Given the description of an element on the screen output the (x, y) to click on. 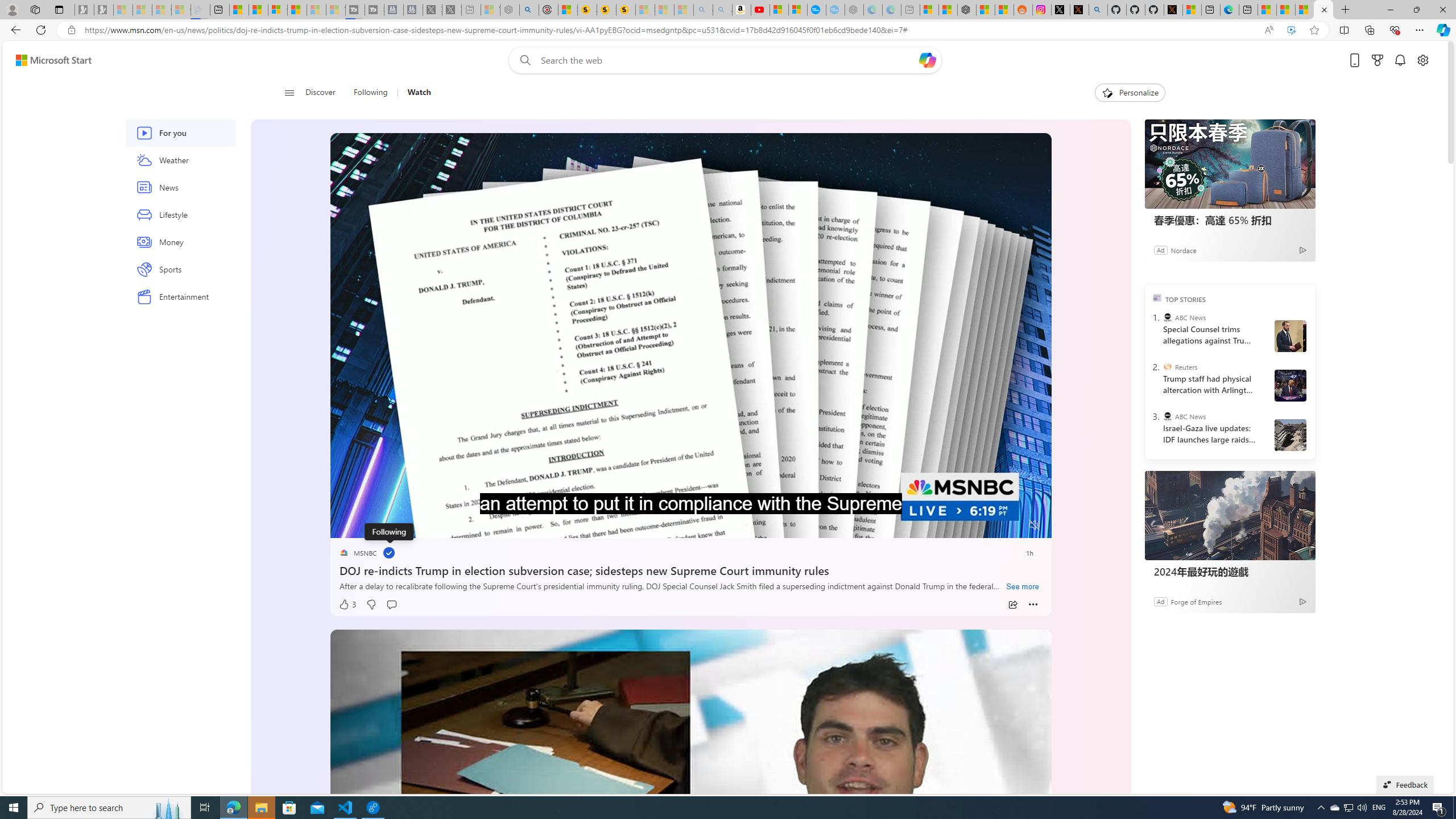
Nordace - Nordace has arrived Hong Kong - Sleeping (853, 9)
Welcome to Microsoft Edge (1229, 9)
ABC News (1167, 415)
Microsoft rewards (1377, 60)
Web search (523, 60)
Wildlife - MSN - Sleeping (490, 9)
